Given the description of an element on the screen output the (x, y) to click on. 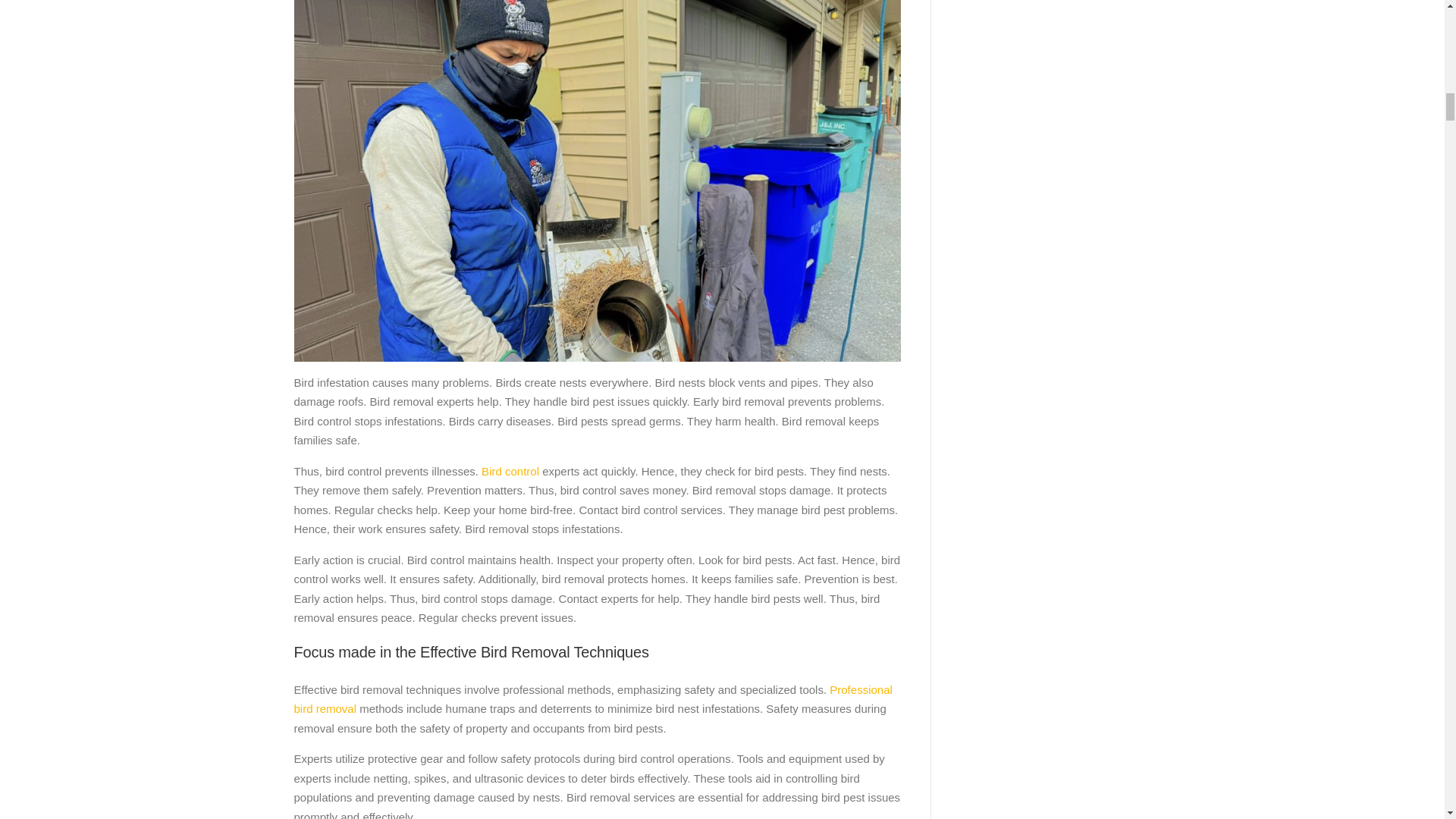
Professional bird removal (593, 699)
Bird control (508, 471)
